Given the description of an element on the screen output the (x, y) to click on. 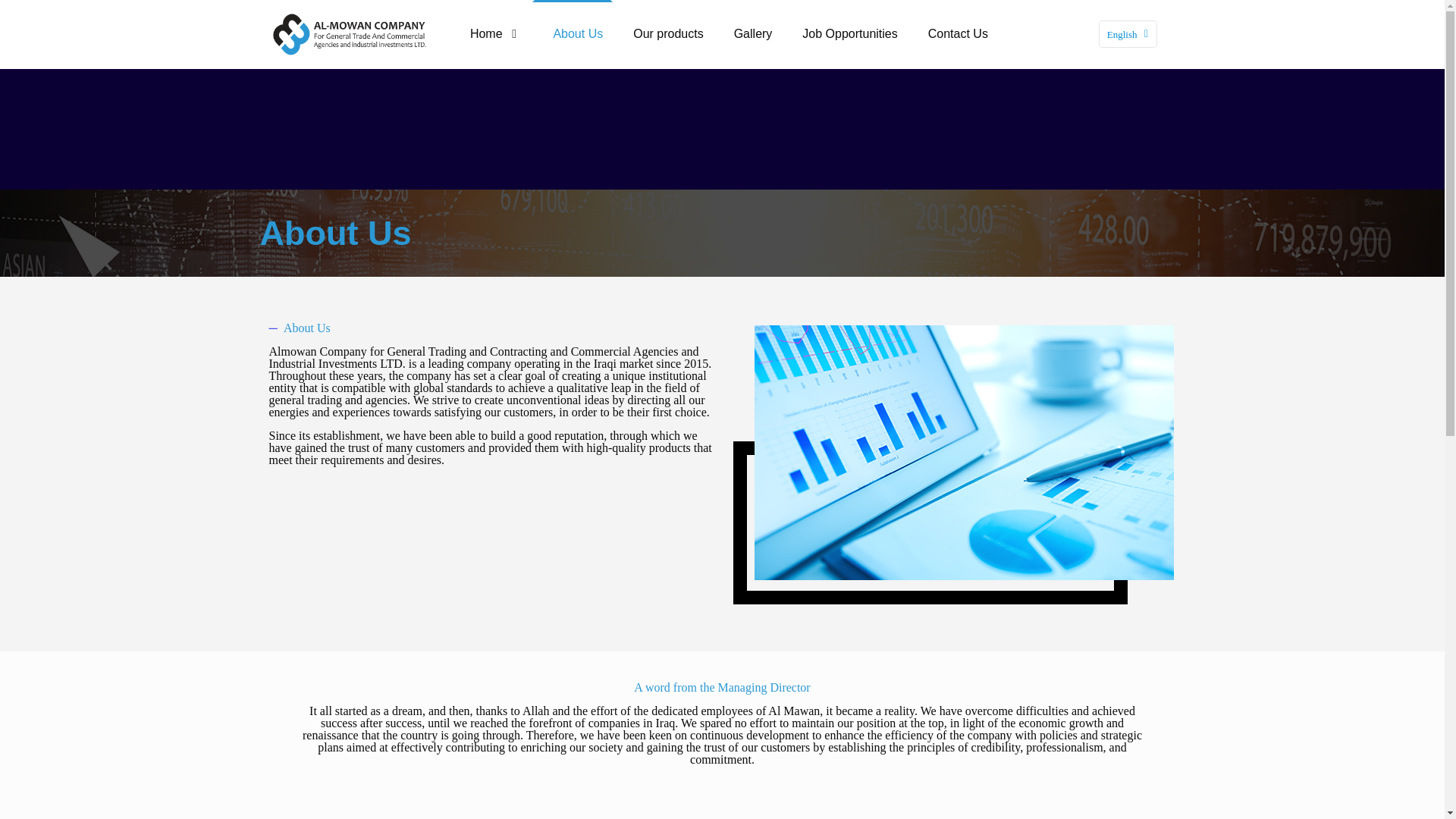
Home (496, 33)
Gallery (753, 33)
Job Opportunities (849, 33)
Al Mawan company (348, 33)
About Us (577, 33)
Our products (667, 33)
English (1128, 33)
Contact Us (957, 33)
